Given the description of an element on the screen output the (x, y) to click on. 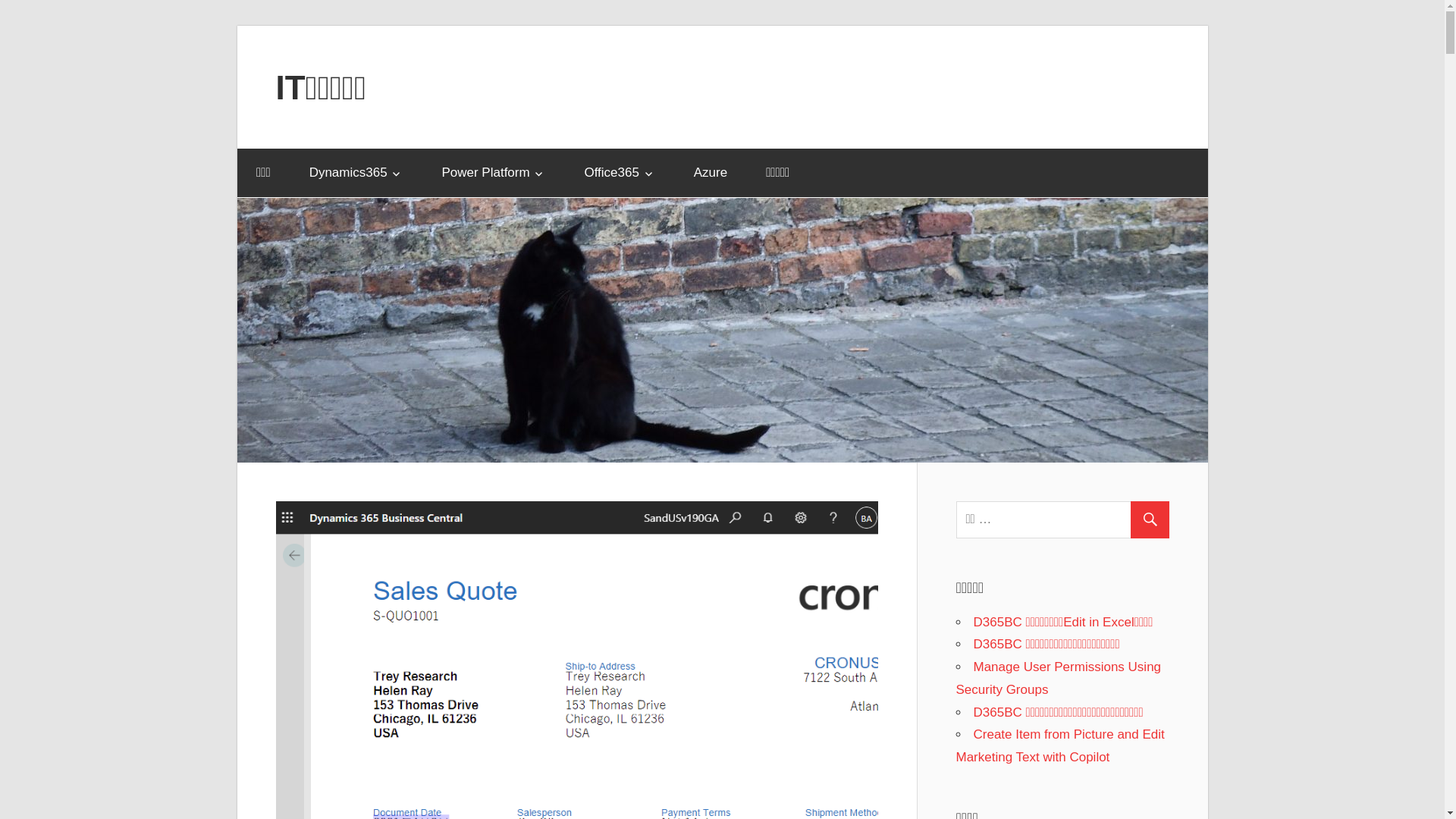
Dynamics365 Element type: text (355, 172)
Power Platform Element type: text (493, 172)
Manage User Permissions Using Security Groups Element type: text (1058, 677)
Office365 Element type: text (619, 172)
Azure Element type: text (710, 172)
